Given the description of an element on the screen output the (x, y) to click on. 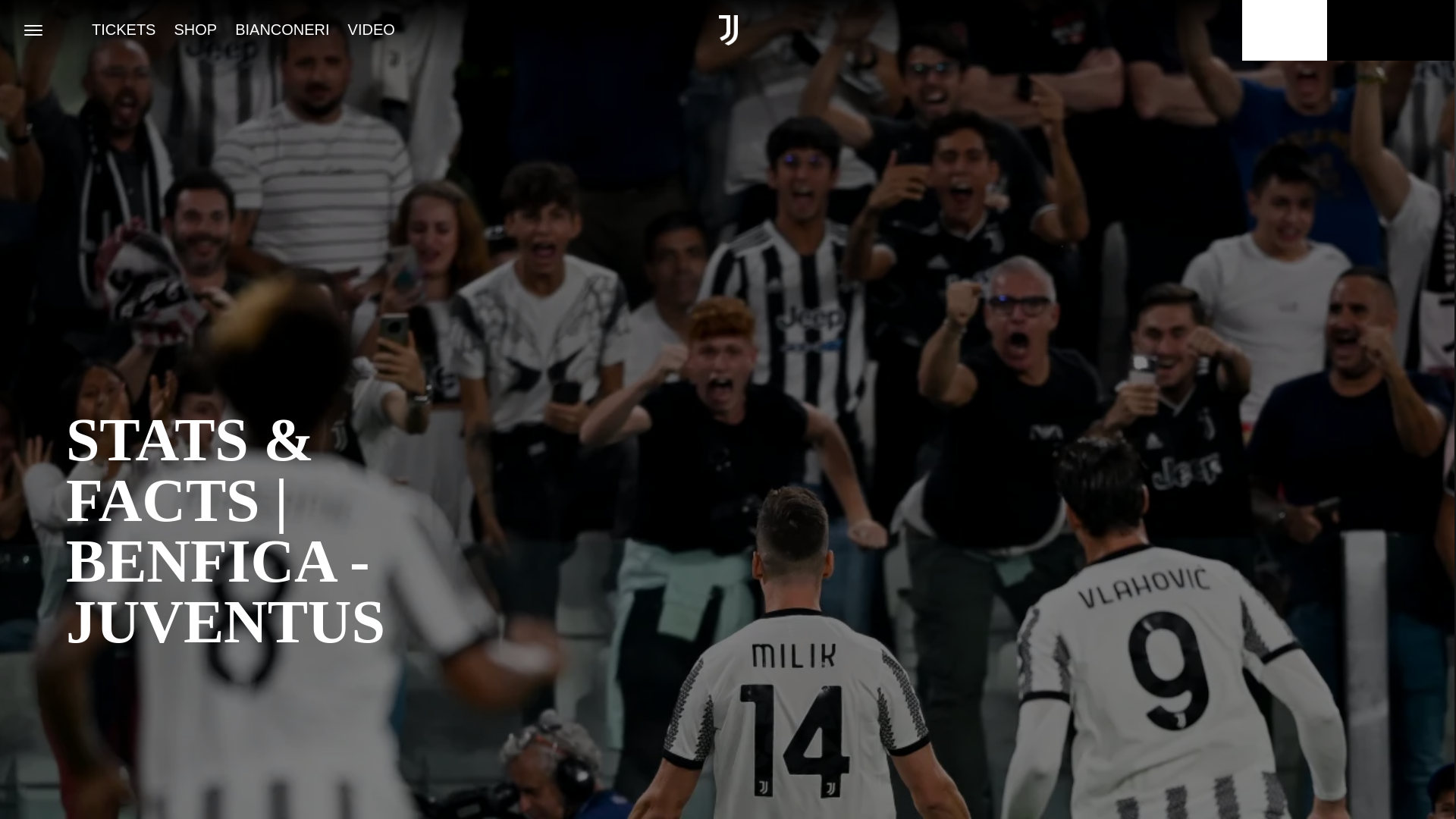
Link To Homepage (728, 30)
